Given the description of an element on the screen output the (x, y) to click on. 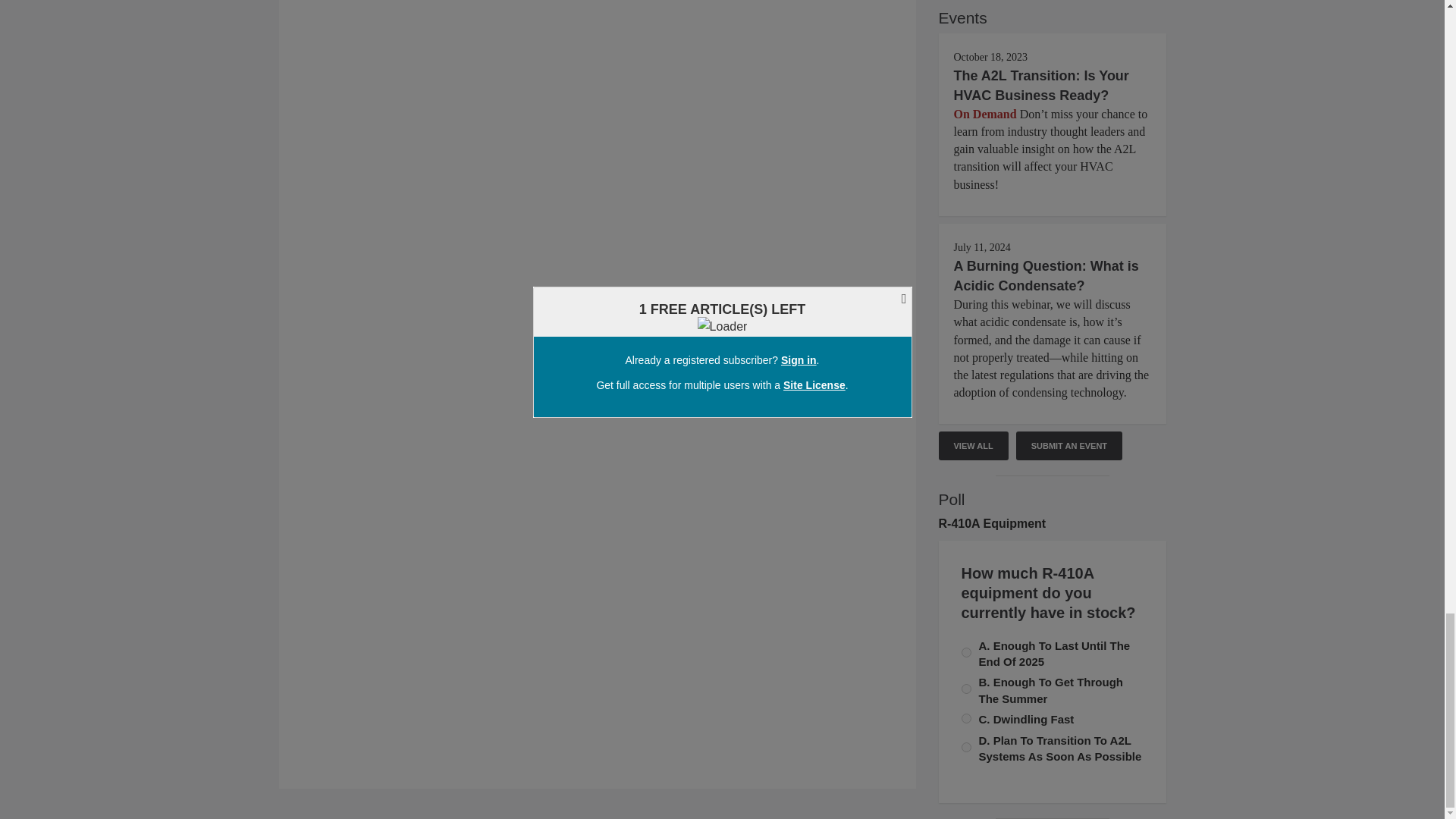
The A2L Transition: Is Your HVAC Business Ready? (1041, 85)
597 (965, 652)
A Burning Question: What is Acidic Condensate? (1045, 275)
599 (965, 747)
596 (965, 688)
598 (965, 718)
